Given the description of an element on the screen output the (x, y) to click on. 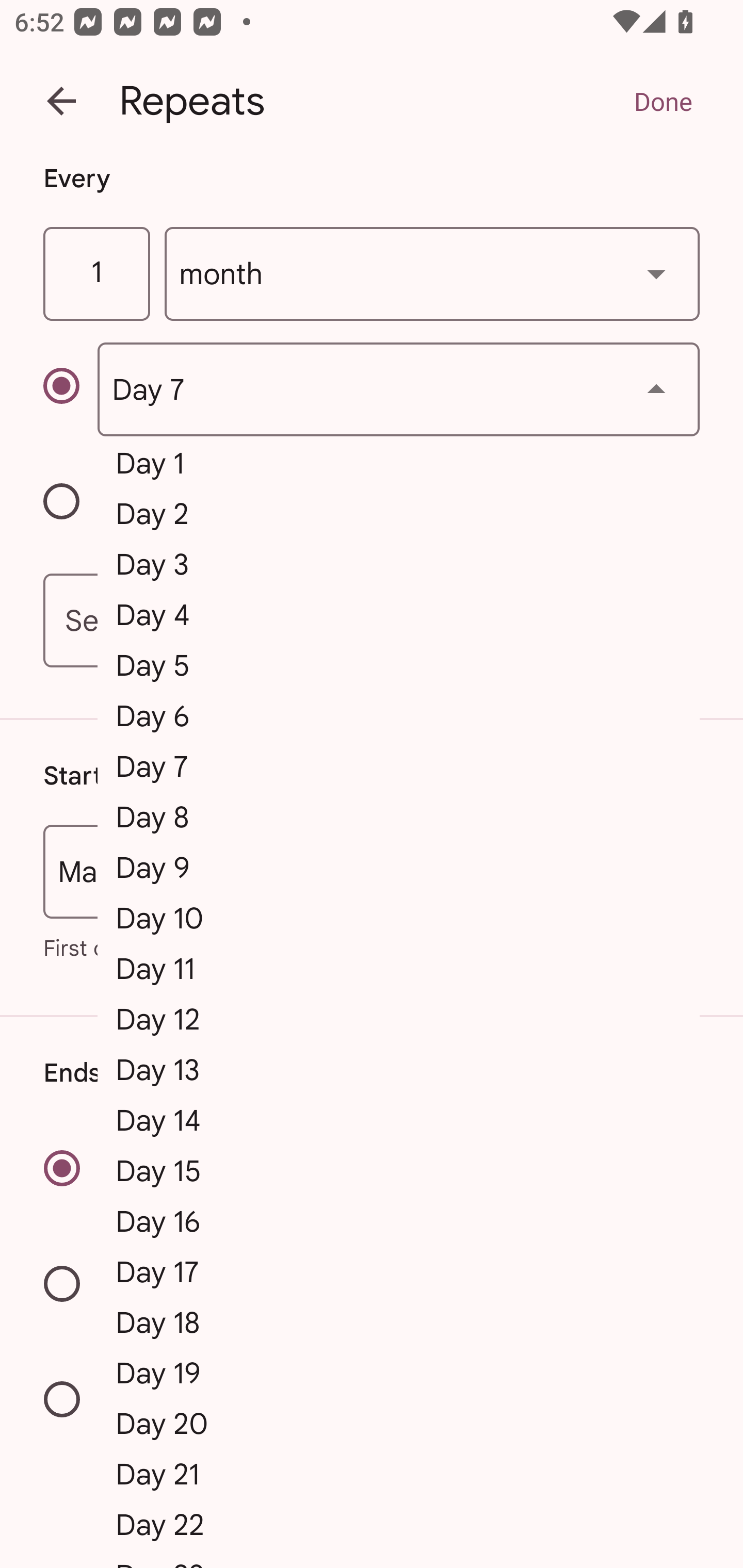
Back (61, 101)
Done (663, 101)
1 (96, 274)
month (431, 274)
Show dropdown menu (655, 273)
Day 7 (398, 388)
Show dropdown menu (655, 389)
Repeat monthly on a specific day of the month (70, 389)
